Given the description of an element on the screen output the (x, y) to click on. 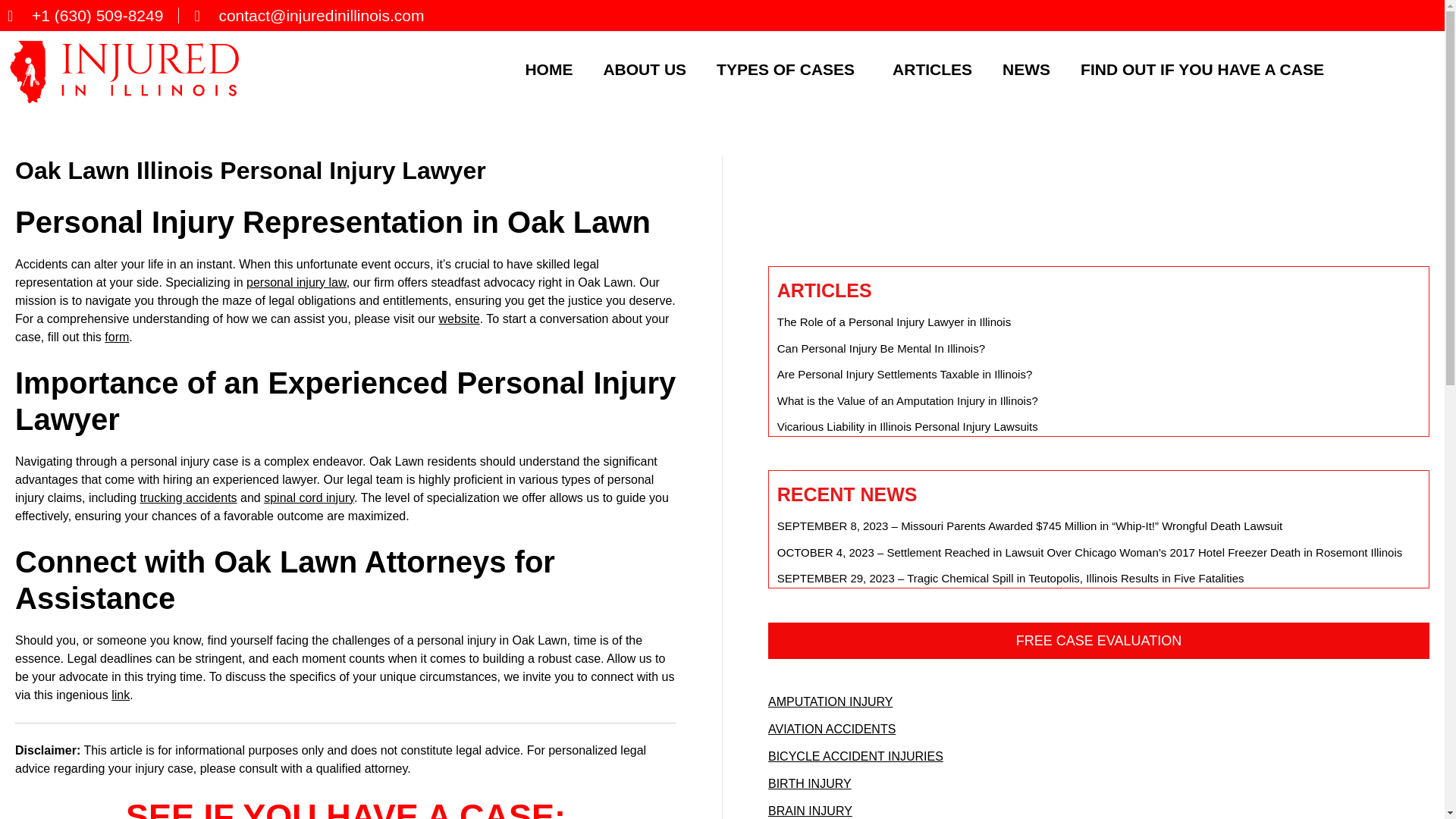
HOME (548, 68)
ABOUT US (644, 68)
NEWS (1026, 68)
TYPES OF CASES (789, 68)
FIND OUT IF YOU HAVE A CASE (1202, 68)
ARTICLES (932, 68)
